Given the description of an element on the screen output the (x, y) to click on. 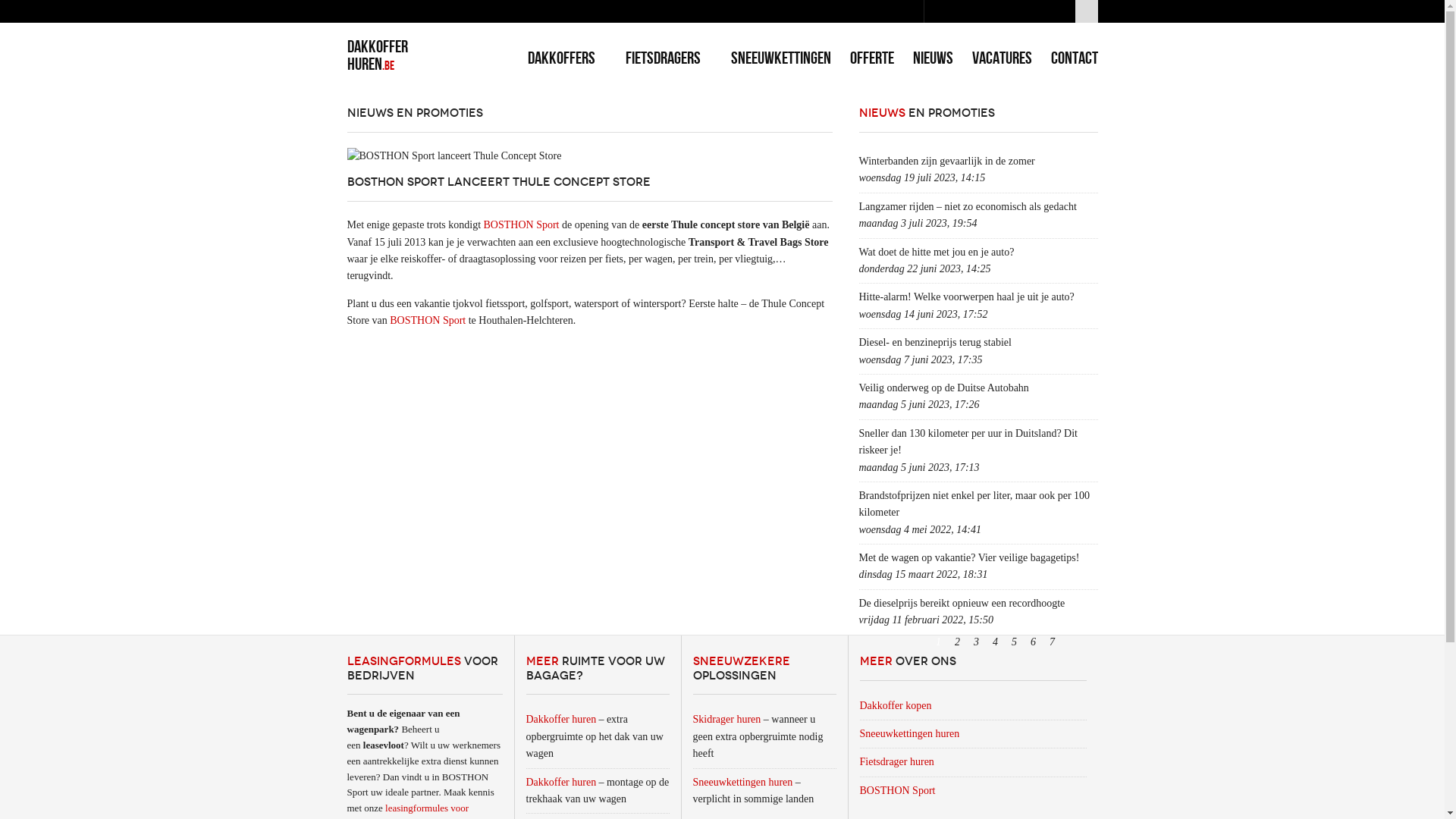
Sneeuwkettingen huren Element type: text (743, 781)
  Element type: text (1090, 641)
BOSTHON Sport Element type: text (521, 224)
VACATURES Element type: text (1002, 57)
Wat doet de hitte met jou en je auto? Element type: text (935, 251)
Diesel- en benzineprijs terug stabiel Element type: text (934, 342)
Geef de woorden op waarnaar u wilt zoeken. Element type: hover (999, 11)
  Element type: text (1086, 11)
SNEEUWKETTINGEN Element type: text (781, 57)
NIEUWS Element type: text (933, 57)
Sneeuwkettingen huren Element type: text (914, 733)
BOSTHON Sport Element type: text (901, 790)
5 Element type: text (1014, 641)
4 Element type: text (994, 641)
Met de wagen op vakantie? Vier veilige bagagetips! Element type: text (968, 557)
2 Element type: text (956, 641)
Dakkoffer huren Element type: text (561, 718)
Ga naar laatste pagina Element type: hover (1090, 641)
Fietsdrager huren Element type: text (901, 761)
BOSTHON Sport Element type: text (427, 320)
De dieselprijs bereikt opnieuw een recordhoogte Element type: text (961, 602)
7 Element type: text (1052, 641)
DAKKOFFER HUREN Element type: text (377, 54)
Veilig onderweg op de Duitse Autobahn Element type: text (943, 387)
Dakkoffer huren Element type: text (561, 781)
  Element type: text (1070, 641)
BOSTHON SPORT LANCEERT THULE CONCEPT STORE Element type: text (498, 181)
3 Element type: text (976, 641)
OFFERTE Element type: text (871, 57)
Ga naar volgende pagina Element type: hover (1070, 641)
Skidrager huren Element type: text (727, 718)
CONTACT Element type: text (1074, 57)
Hitte-alarm! Welke voorwerpen haal je uit je auto? Element type: text (965, 296)
Overslaan en naar de inhoud gaan Element type: text (72, 0)
6 Element type: text (1032, 641)
Winterbanden zijn gevaarlijk in de zomer Element type: text (946, 160)
Dakkoffer kopen Element type: text (900, 704)
